Given the description of an element on the screen output the (x, y) to click on. 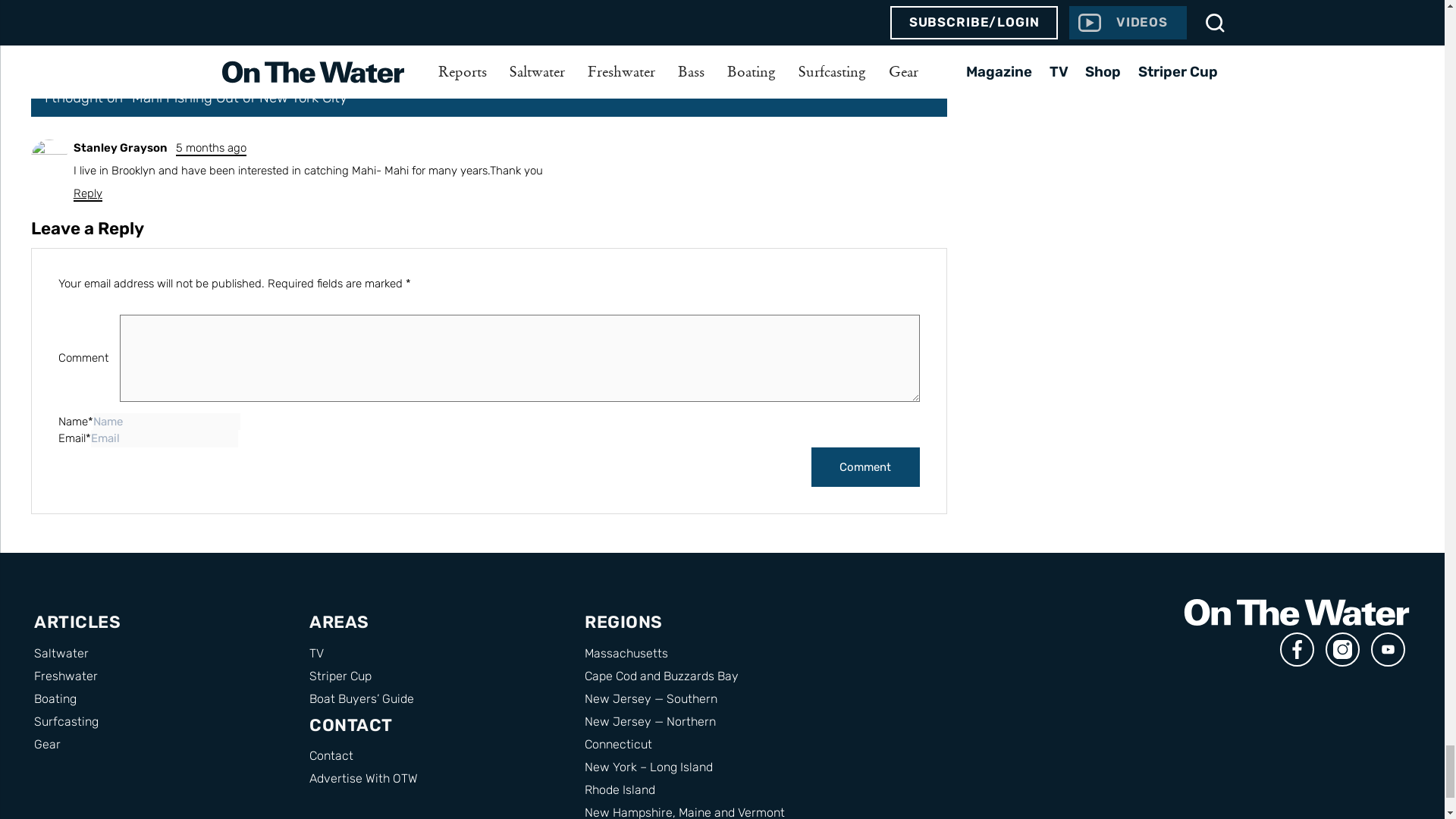
Comment (865, 467)
